Given the description of an element on the screen output the (x, y) to click on. 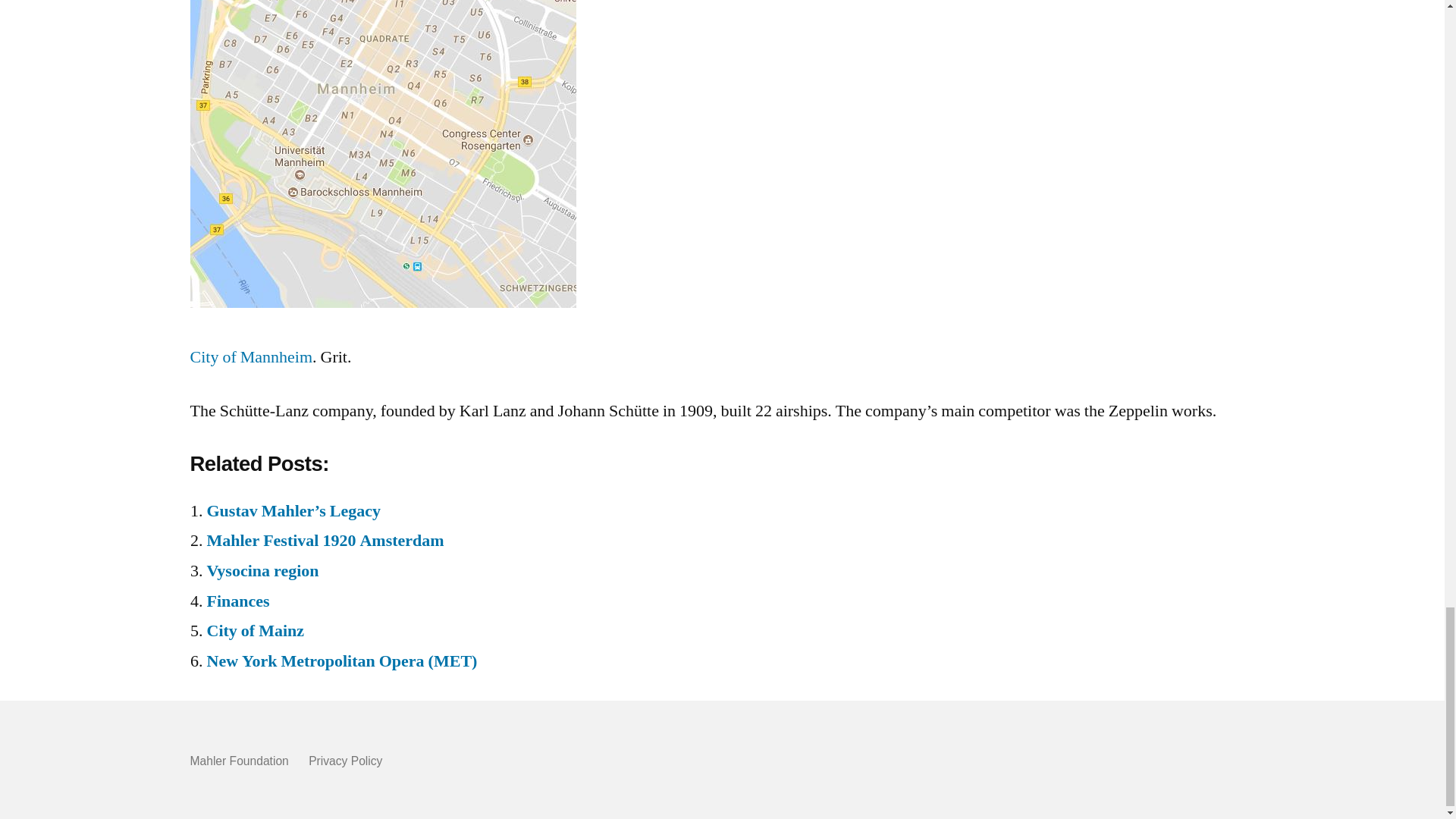
City of Mainz (255, 630)
Vysocina region (262, 570)
Mahler Festival 1920 Amsterdam (325, 540)
Finances (237, 600)
